Given the description of an element on the screen output the (x, y) to click on. 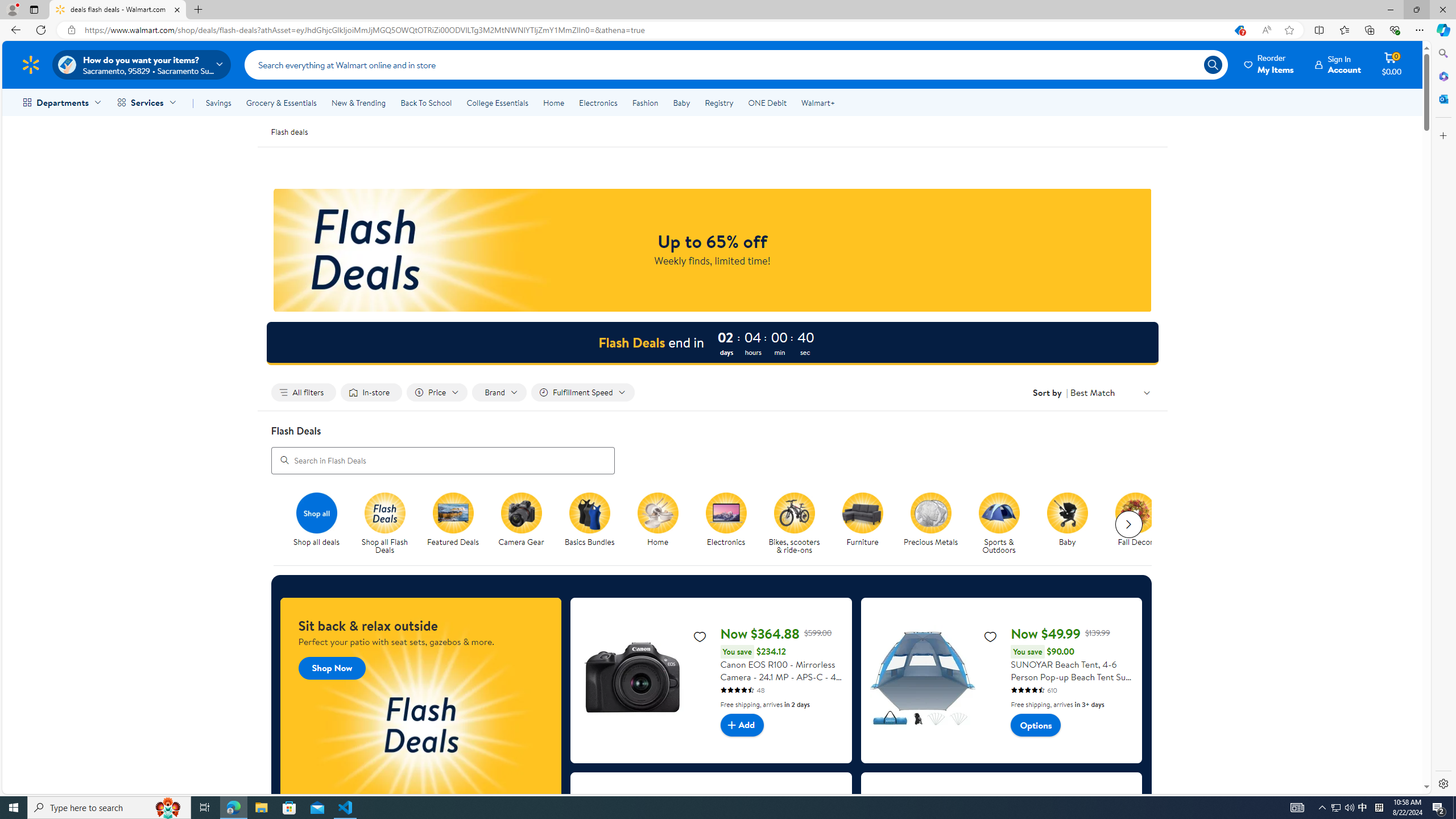
Precious Metals Precious Metals (930, 519)
Camera Gear (520, 512)
Basics Bundles (589, 512)
Sign InAccount (1338, 64)
Filter by In-store (371, 392)
Baby (681, 102)
Camera Gear Camera Gear (521, 519)
Fashion (644, 102)
Class: ld ld-ChevronDown pa0 ml6 (1146, 392)
